Given the description of an element on the screen output the (x, y) to click on. 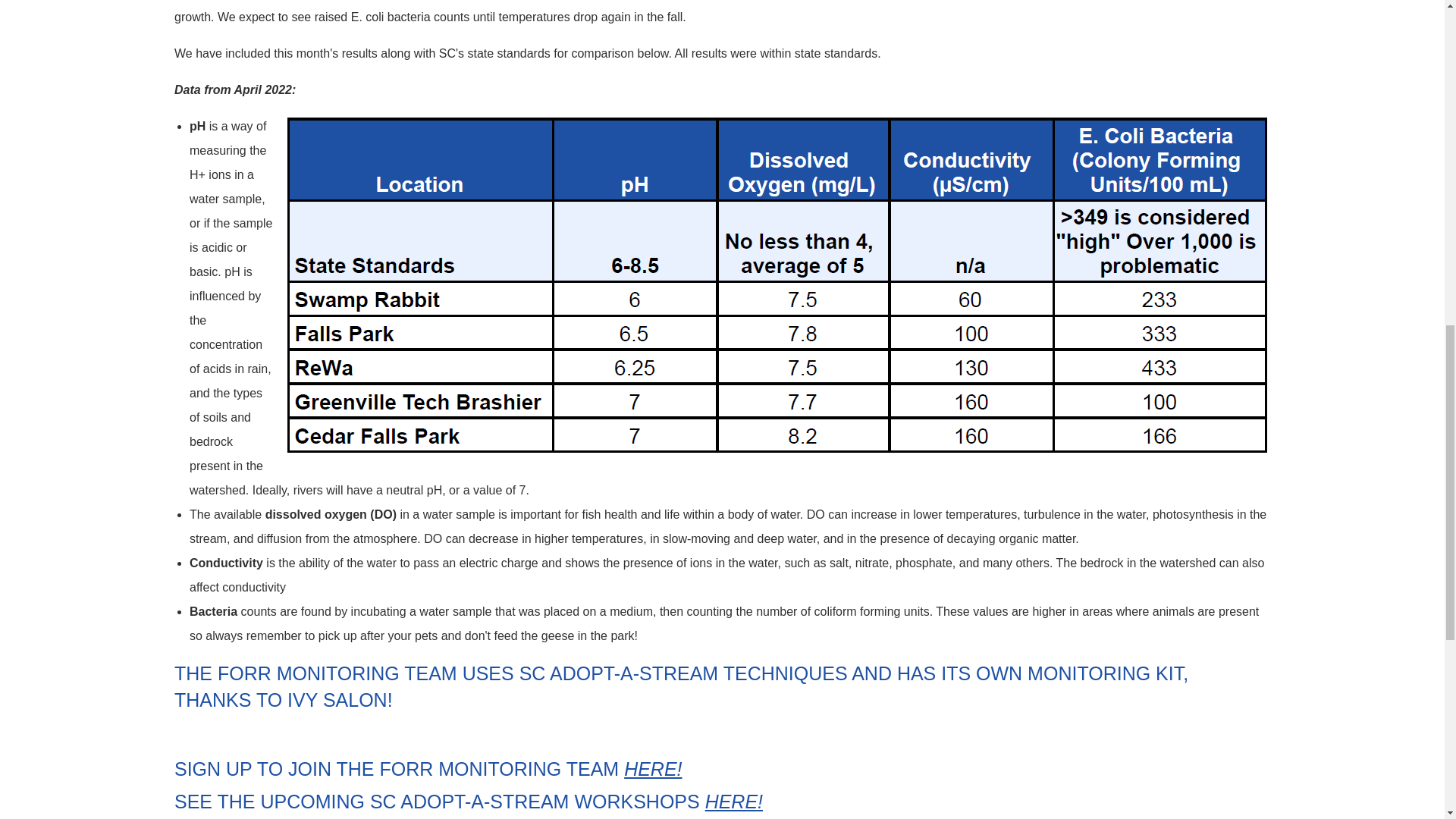
HERE! (652, 768)
HERE! (733, 801)
